Given the description of an element on the screen output the (x, y) to click on. 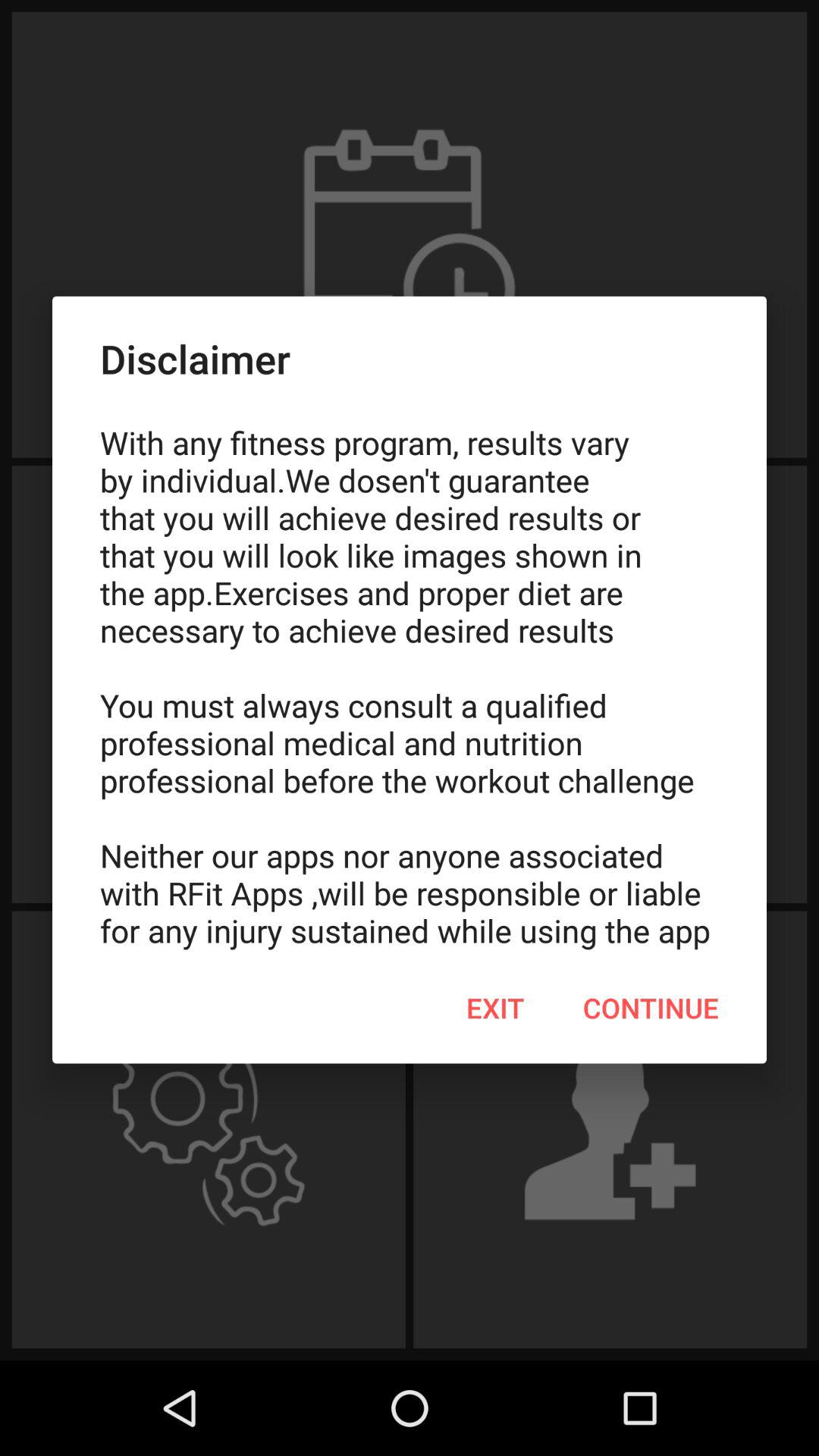
swipe until the exit (495, 1007)
